Given the description of an element on the screen output the (x, y) to click on. 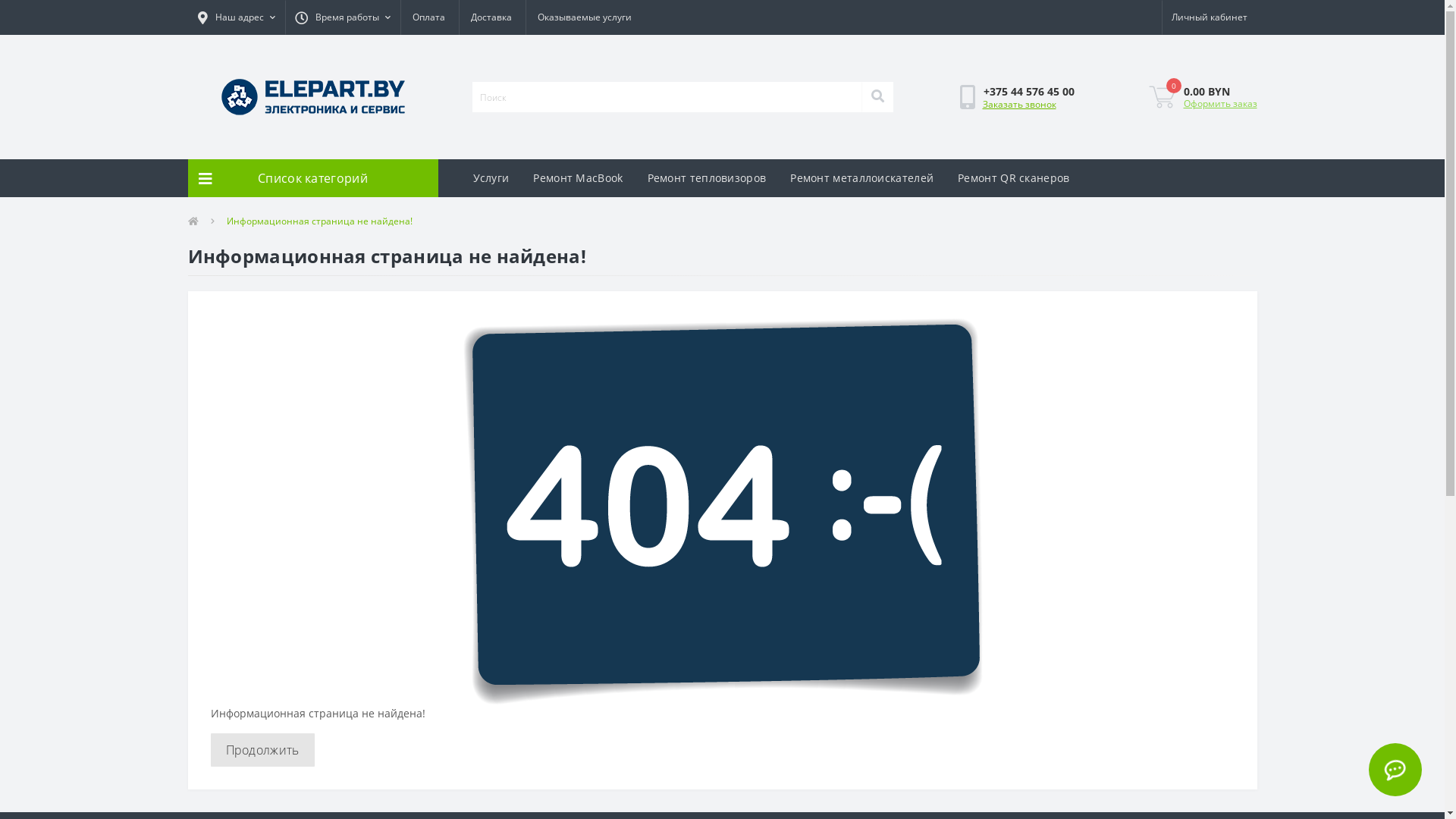
elepart.by Element type: hover (312, 96)
0 Element type: text (1161, 96)
+375 44 576 45 00 Element type: text (1028, 91)
